Given the description of an element on the screen output the (x, y) to click on. 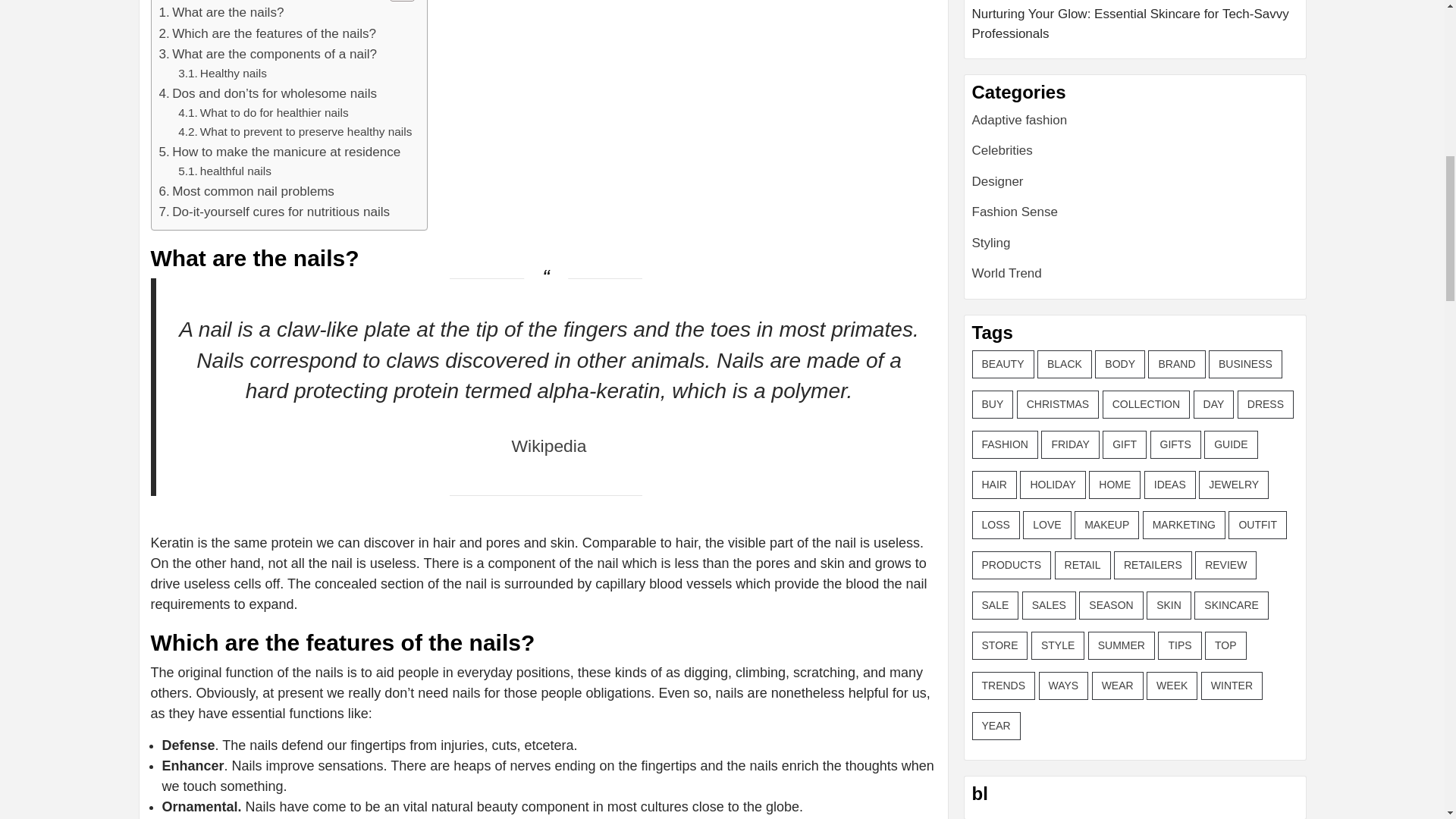
healthful nails (223, 171)
What to do for healthier nails (262, 113)
What to do for healthier nails (262, 113)
Which are the features of the nails? (267, 33)
How to make the manicure at residence (279, 151)
What are the components of a nail? (267, 54)
How to make the manicure at residence (279, 151)
Do-it-yourself cures for nutritious nails (274, 211)
Which are the features of the nails? (267, 33)
Most common nail problems (246, 190)
Wikipedia (549, 445)
What are the nails? (220, 12)
healthful nails (223, 171)
Healthy nails (221, 73)
Healthy nails (221, 73)
